Given the description of an element on the screen output the (x, y) to click on. 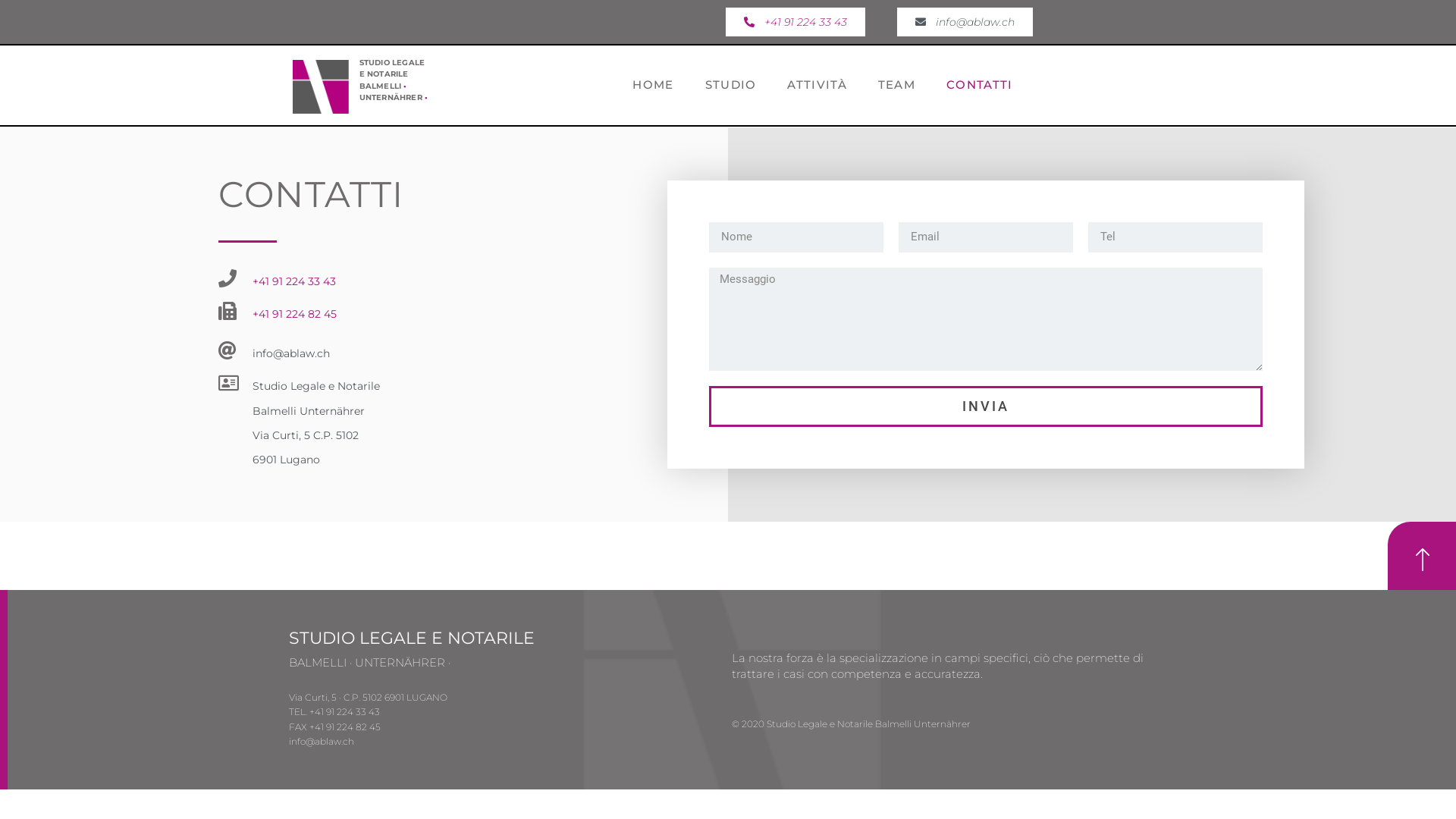
HOME Element type: text (652, 85)
CONTATTI Element type: text (979, 85)
STUDIO LEGALE E NOTARILE Element type: text (410, 637)
TEAM Element type: text (896, 85)
info@ablaw.ch Element type: text (964, 21)
INVIA Element type: text (985, 405)
STUDIO Element type: text (730, 85)
+41 91 224 33 43 Element type: text (795, 21)
